Given the description of an element on the screen output the (x, y) to click on. 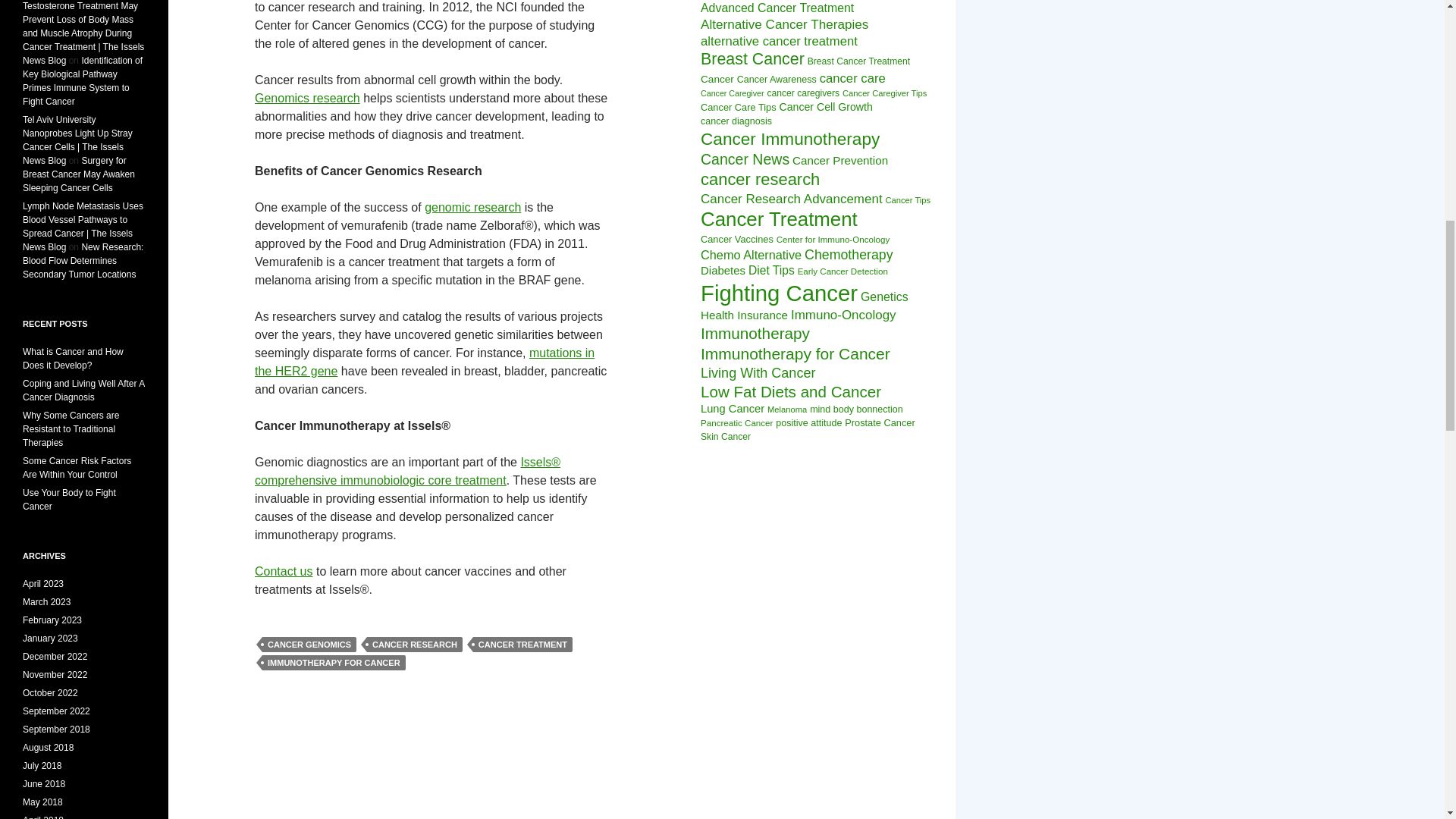
Contact us (283, 571)
CANCER GENOMICS (309, 644)
genomic research (473, 206)
CANCER RESEARCH (414, 644)
Genomics research (306, 97)
mutations in the HER2 gene (424, 361)
IMMUNOTHERAPY FOR CANCER (334, 662)
CANCER TREATMENT (522, 644)
